Given the description of an element on the screen output the (x, y) to click on. 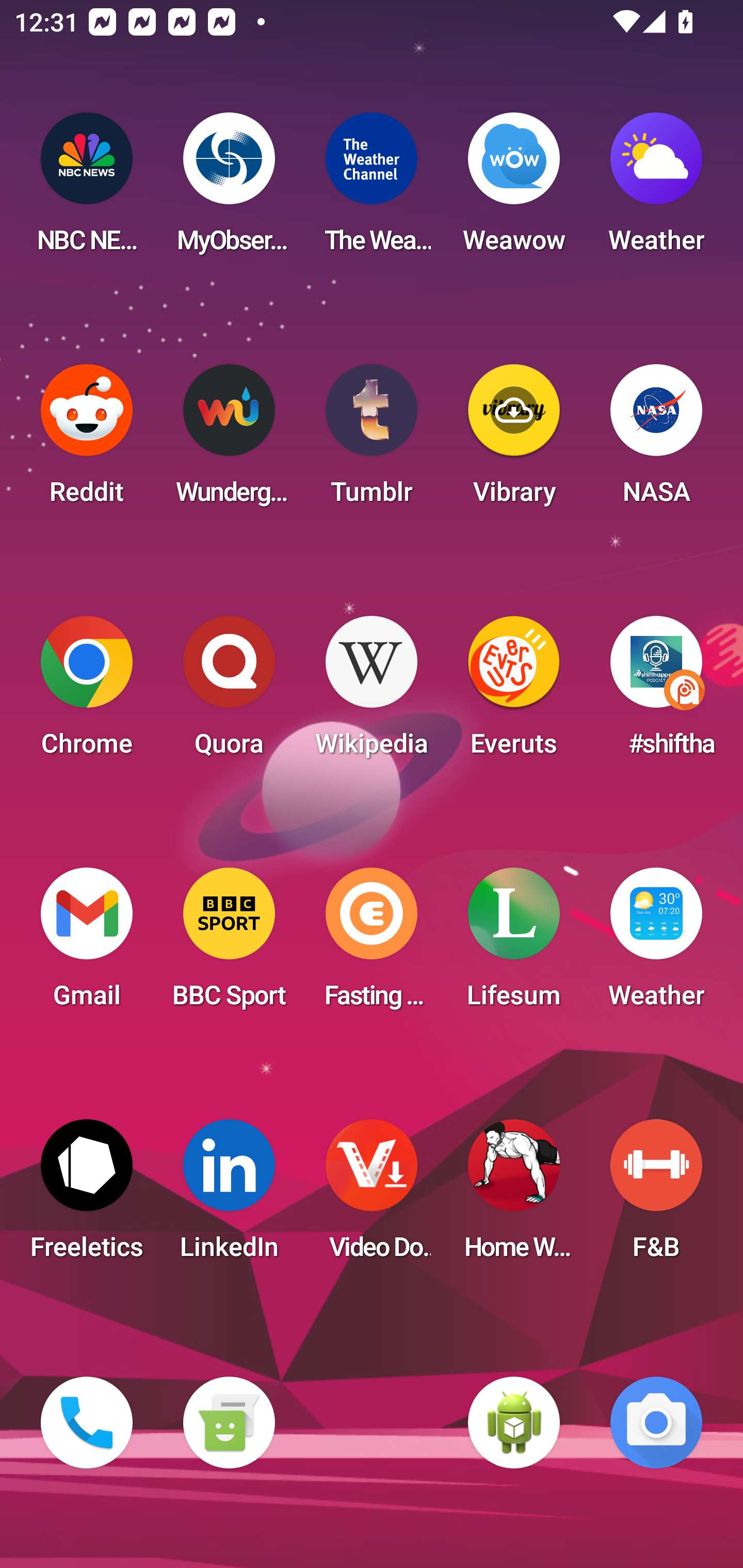
NBC NEWS (86, 188)
MyObservatory (228, 188)
The Weather Channel (371, 188)
Weawow (513, 188)
Weather (656, 188)
Reddit (86, 440)
Wunderground (228, 440)
Tumblr (371, 440)
Vibrary (513, 440)
NASA (656, 440)
Chrome (86, 692)
Quora (228, 692)
Wikipedia (371, 692)
Everuts (513, 692)
#shifthappens in the Digital Workplace Podcast (656, 692)
Gmail (86, 943)
BBC Sport (228, 943)
Fasting Coach (371, 943)
Lifesum (513, 943)
Weather (656, 943)
Freeletics (86, 1195)
LinkedIn (228, 1195)
Video Downloader & Ace Player (371, 1195)
Home Workout (513, 1195)
F&B (656, 1195)
Phone (86, 1422)
Messaging (228, 1422)
WebView Browser Tester (513, 1422)
Camera (656, 1422)
